Given the description of an element on the screen output the (x, y) to click on. 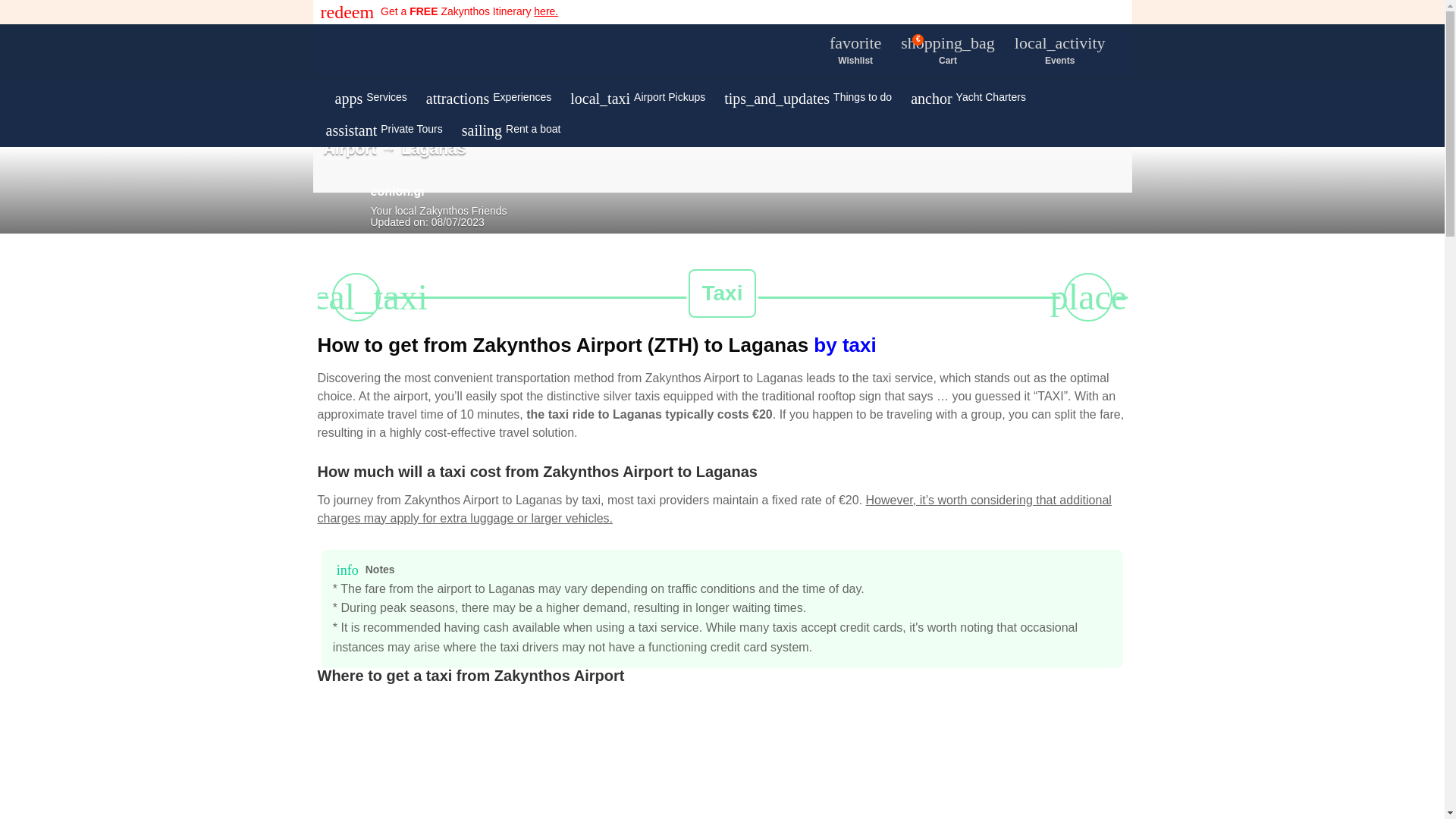
attractionsExperiences (486, 96)
eonion experiences (528, 51)
sailingRent a boat (509, 128)
assistantPrivate Tours (382, 128)
here. (855, 51)
ZTH Info map (545, 10)
appsServices (544, 757)
anchorYacht Charters (368, 96)
